Given the description of an element on the screen output the (x, y) to click on. 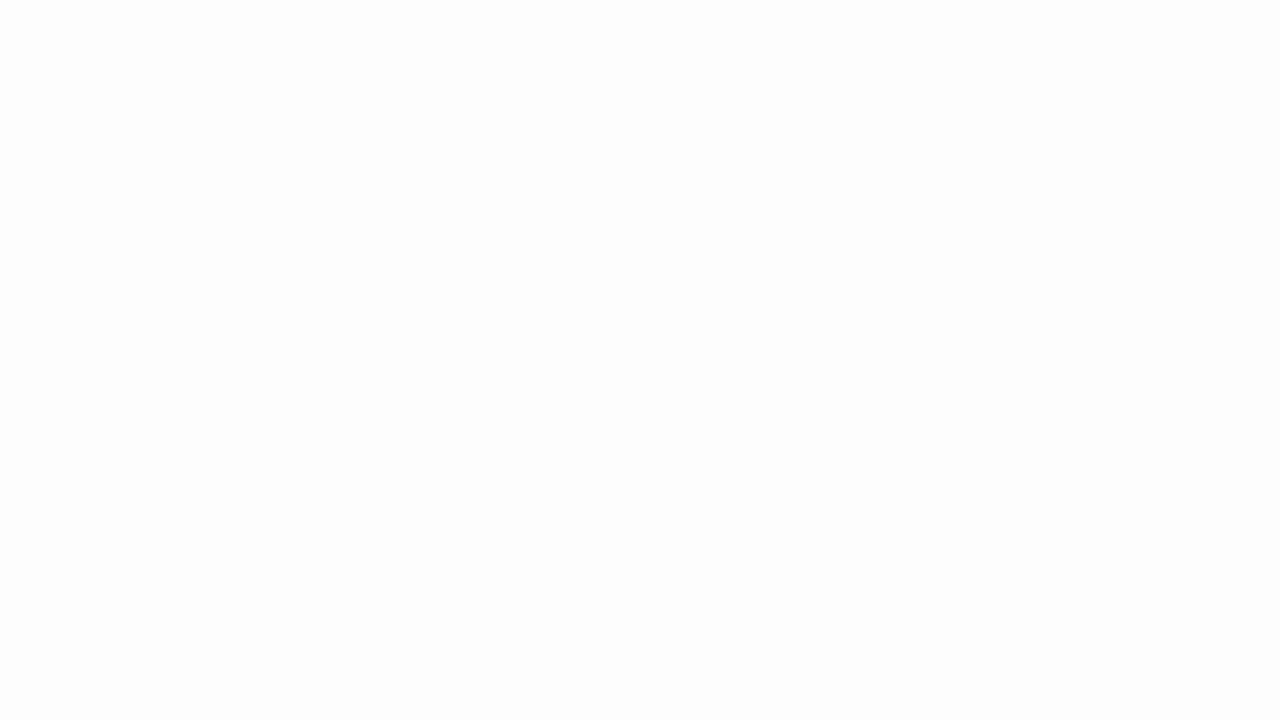
Align Left (461, 119)
Bold (183, 119)
Decrease Font Size (424, 87)
Paste (28, 84)
Middle Align (485, 87)
Font Size (365, 87)
Format Painter (103, 126)
Wrap Text (624, 87)
Explanatory Text (1180, 114)
Percent Style (781, 119)
Decrease Decimal (859, 119)
